Given the description of an element on the screen output the (x, y) to click on. 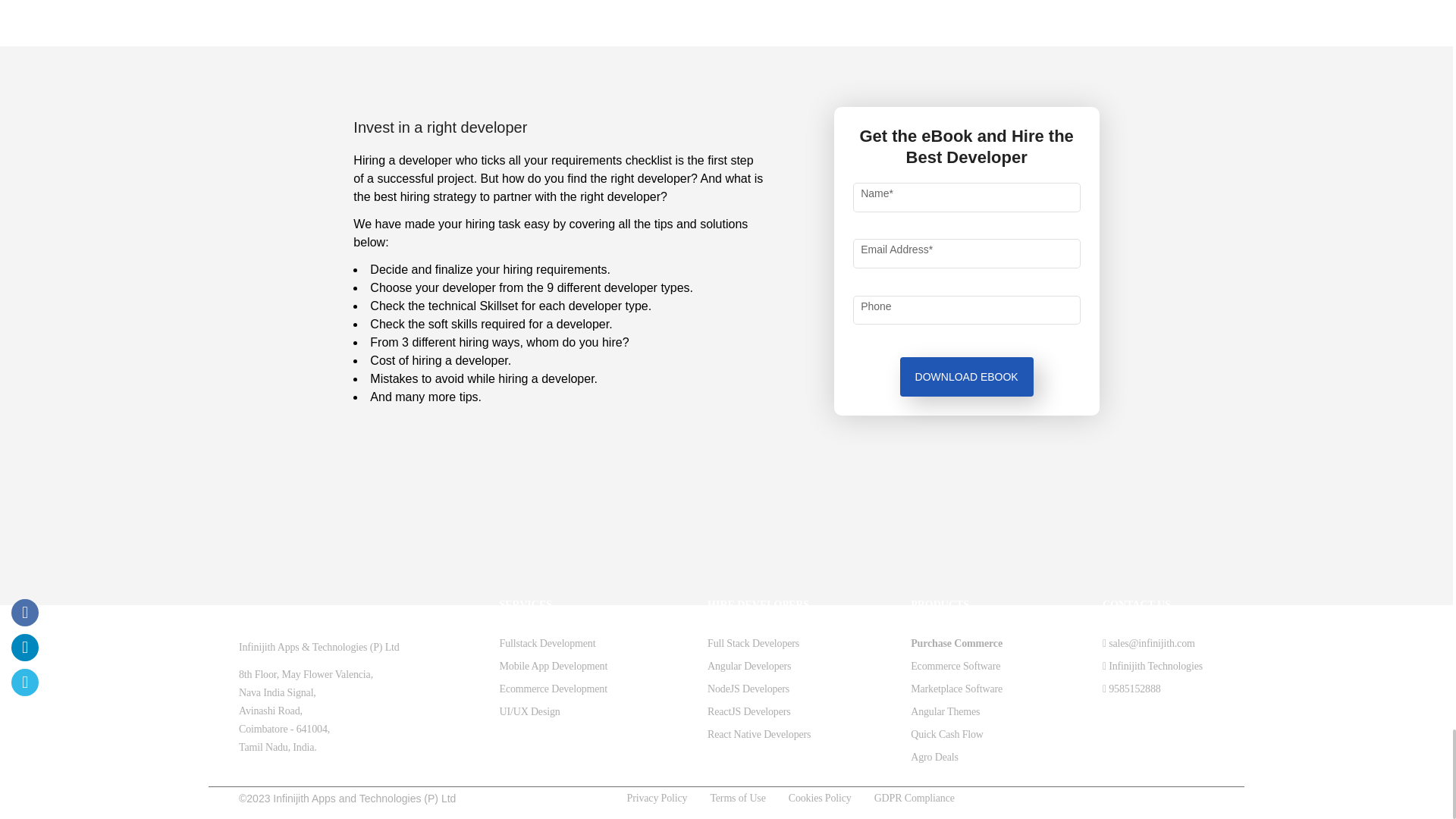
Ecommerce Development (553, 688)
Fullstack Development (547, 643)
Mobile App Development (553, 665)
Full Stack Developers (753, 643)
NodeJS Developers (748, 688)
Angular Developers (748, 665)
ReactJS Developers (748, 711)
DOWNLOAD EBOOK (966, 376)
